Given the description of an element on the screen output the (x, y) to click on. 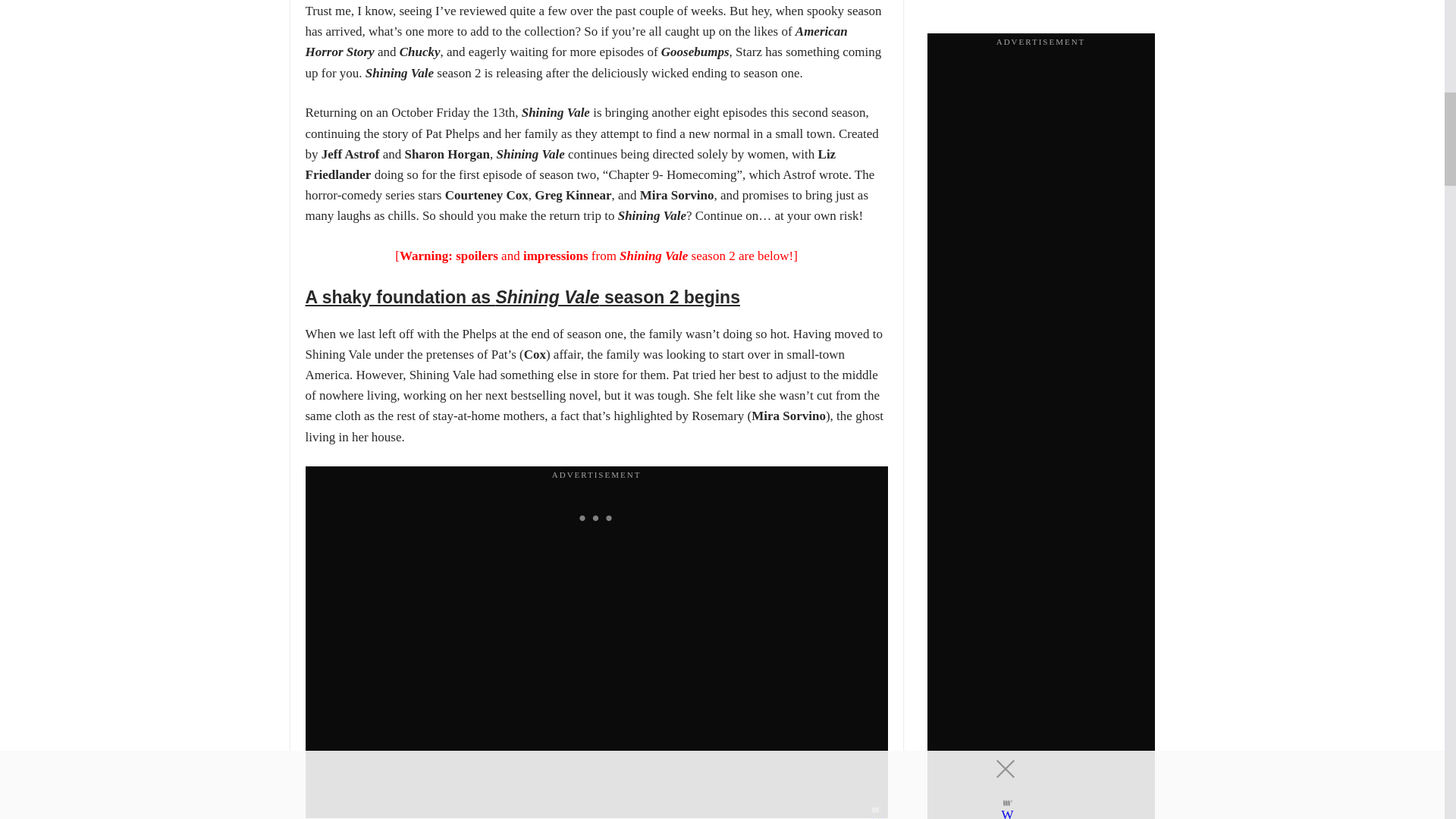
3rd party ad content (596, 518)
